Given the description of an element on the screen output the (x, y) to click on. 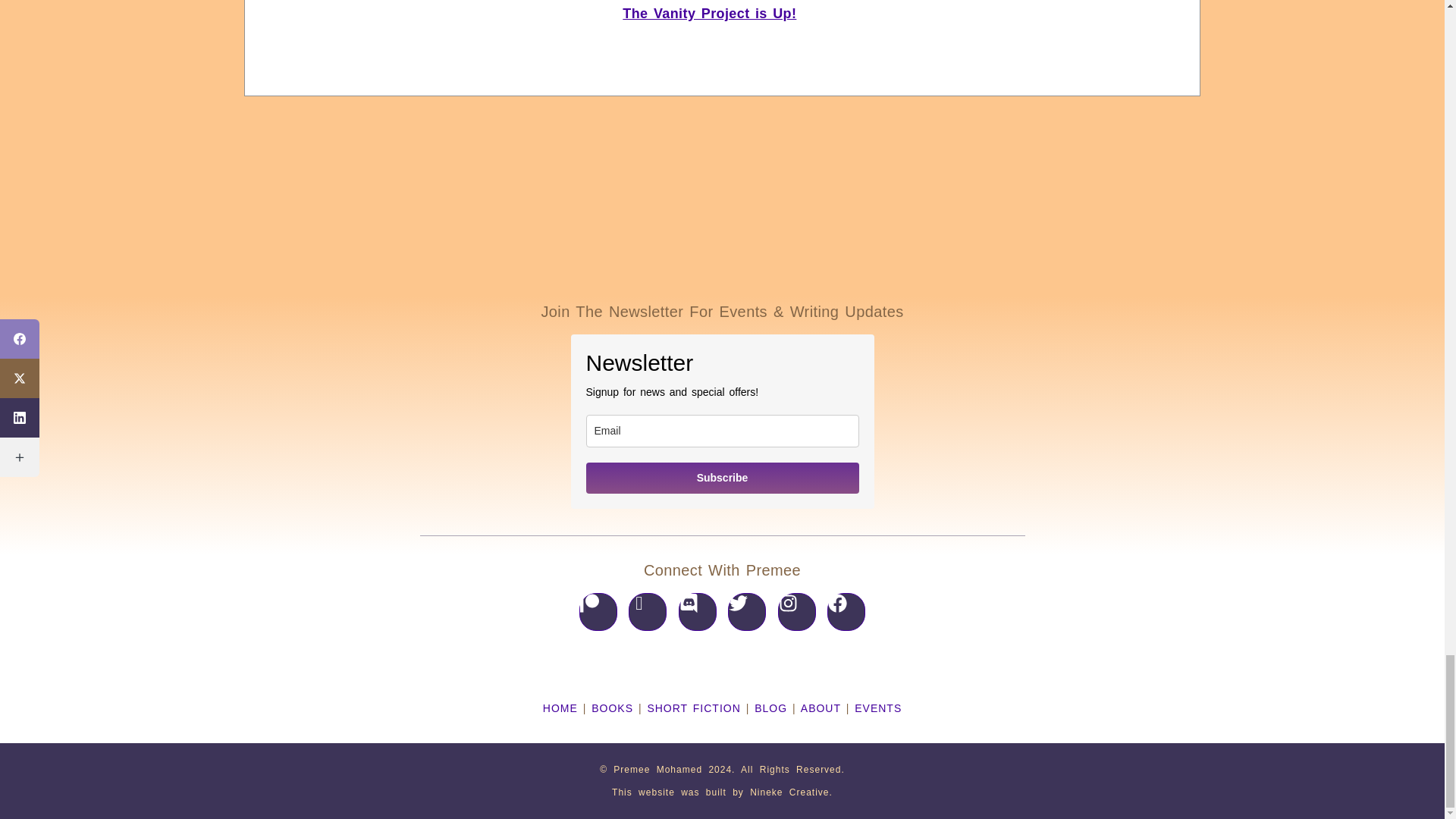
The Vanity Project is Up! (709, 13)
ABOUT (820, 707)
EVENTS (877, 707)
Subscribe (722, 477)
BOOKS (612, 707)
HOME (560, 707)
SHORT FICTION (692, 707)
Nineke Creative (788, 792)
BLOG (770, 707)
